Given the description of an element on the screen output the (x, y) to click on. 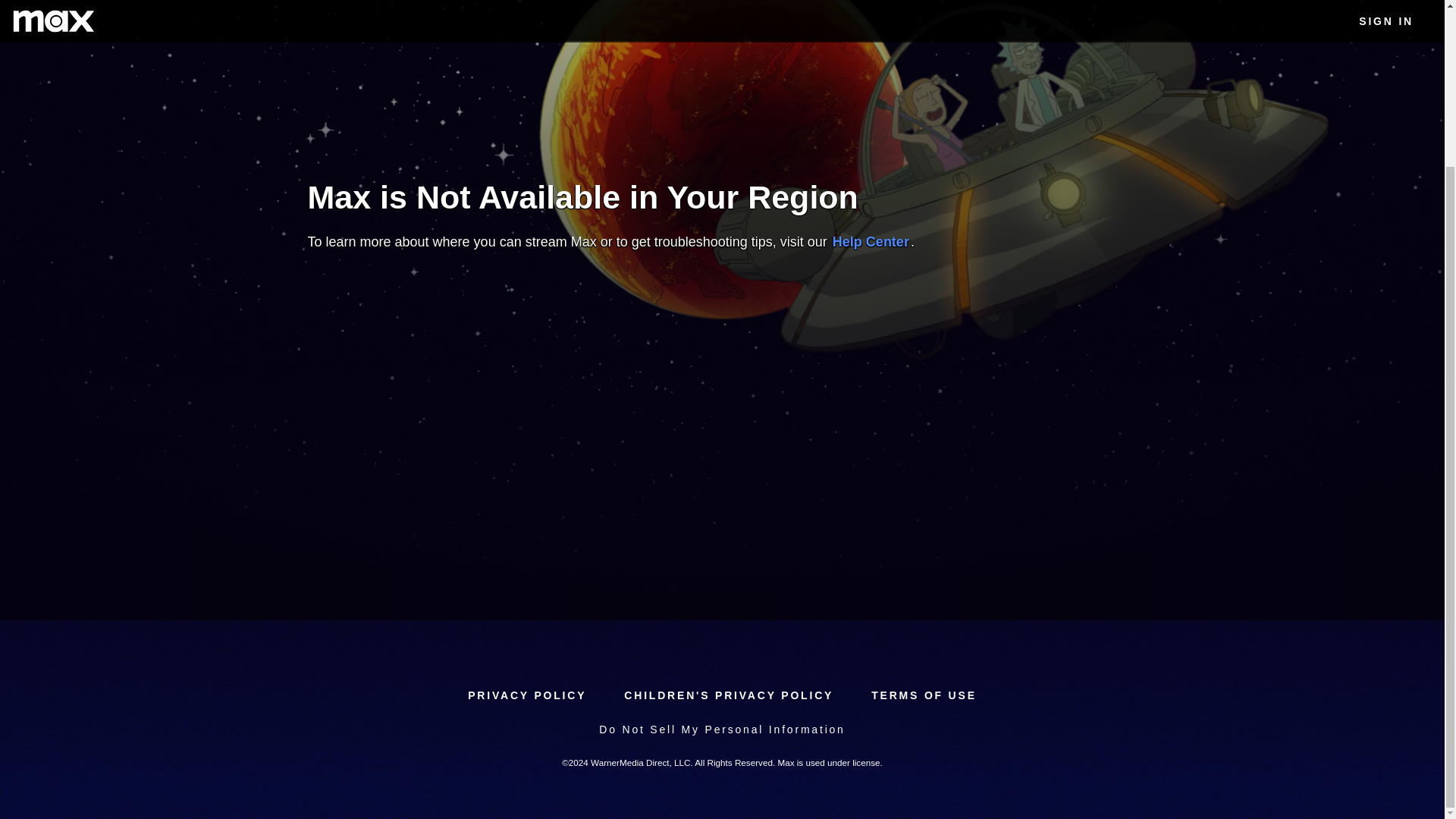
Do Not Sell My Personal Information (721, 729)
PRIVACY POLICY (526, 695)
TERMS OF USE (923, 695)
CHILDREN'S PRIVACY POLICY (728, 695)
Help Center (871, 241)
